Given the description of an element on the screen output the (x, y) to click on. 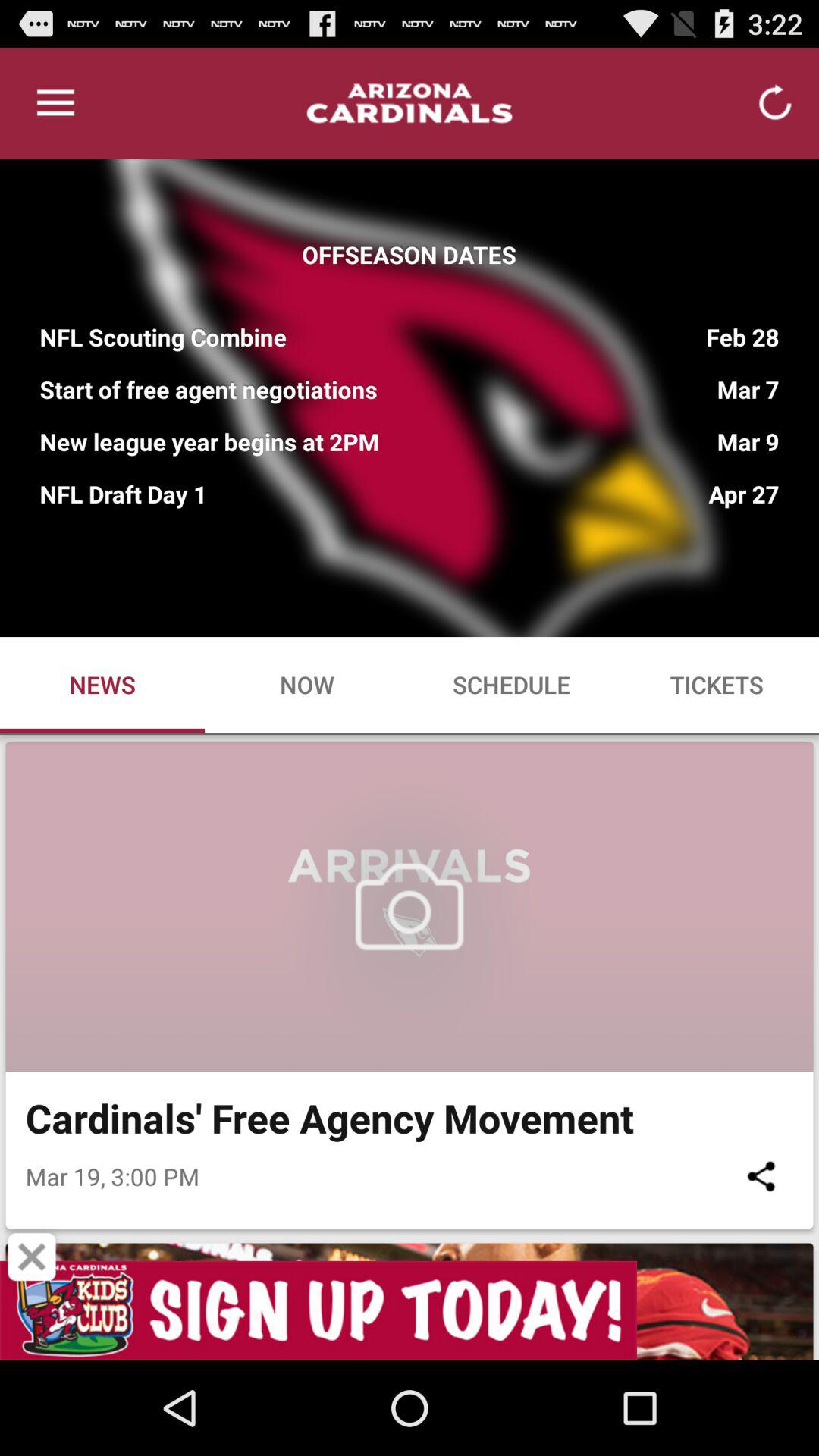
switch adds (409, 1310)
